Given the description of an element on the screen output the (x, y) to click on. 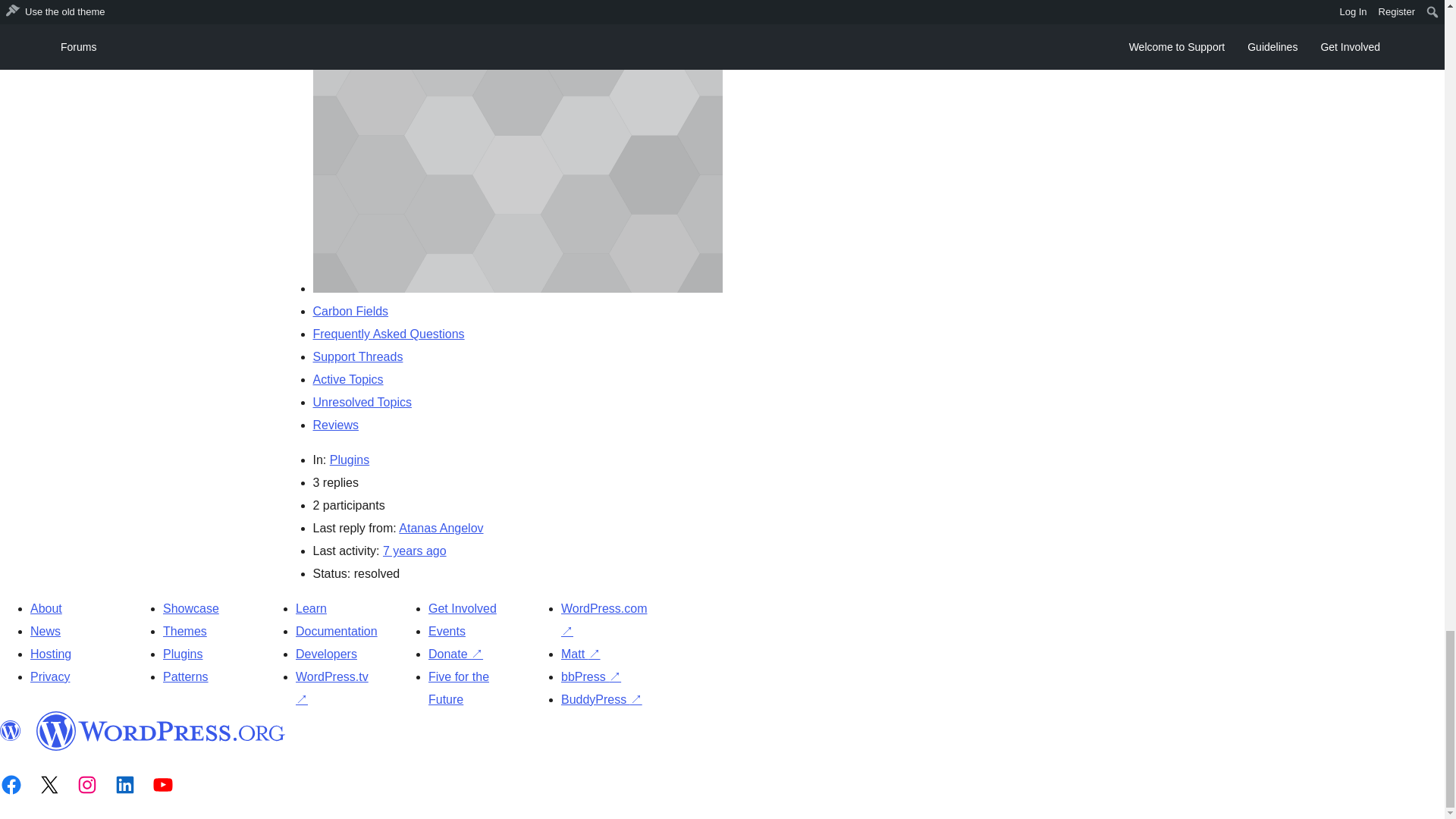
WordPress.org (10, 731)
August 17, 2017 at 6:15 am (414, 550)
WordPress.org (160, 731)
View Atanas Angelov's profile (440, 527)
